Given the description of an element on the screen output the (x, y) to click on. 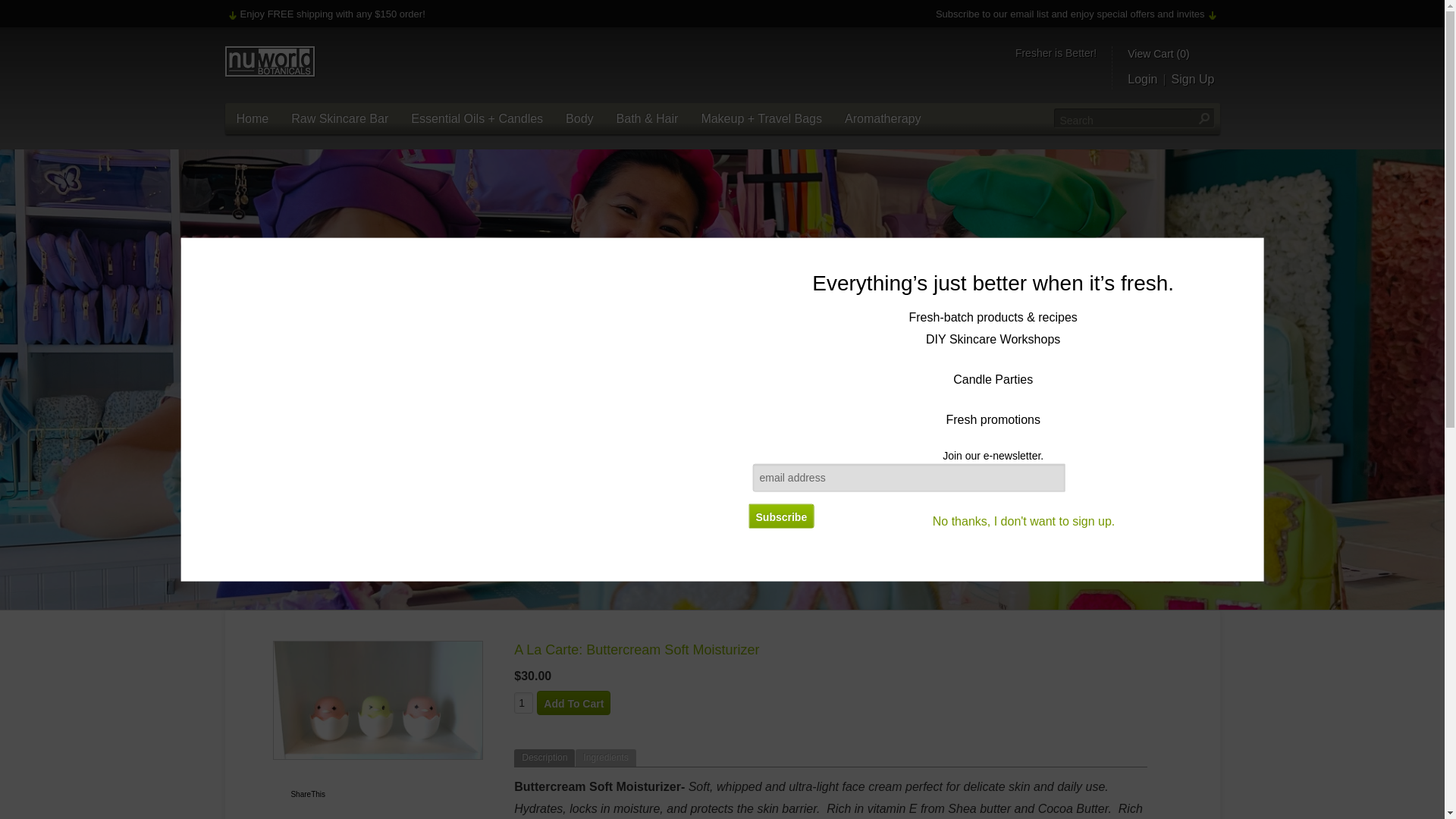
Raw Skincare Bar (338, 118)
A La Carte: Buttercream Soft Moisturizer (378, 700)
Search (1202, 117)
Body (579, 118)
Subscribe (781, 516)
Aromatherapy (882, 118)
1 (522, 702)
Home (251, 118)
Sign Up (1193, 78)
Nuworld Botanicals (269, 61)
Add To Cart (573, 702)
Login (1141, 78)
